Given the description of an element on the screen output the (x, y) to click on. 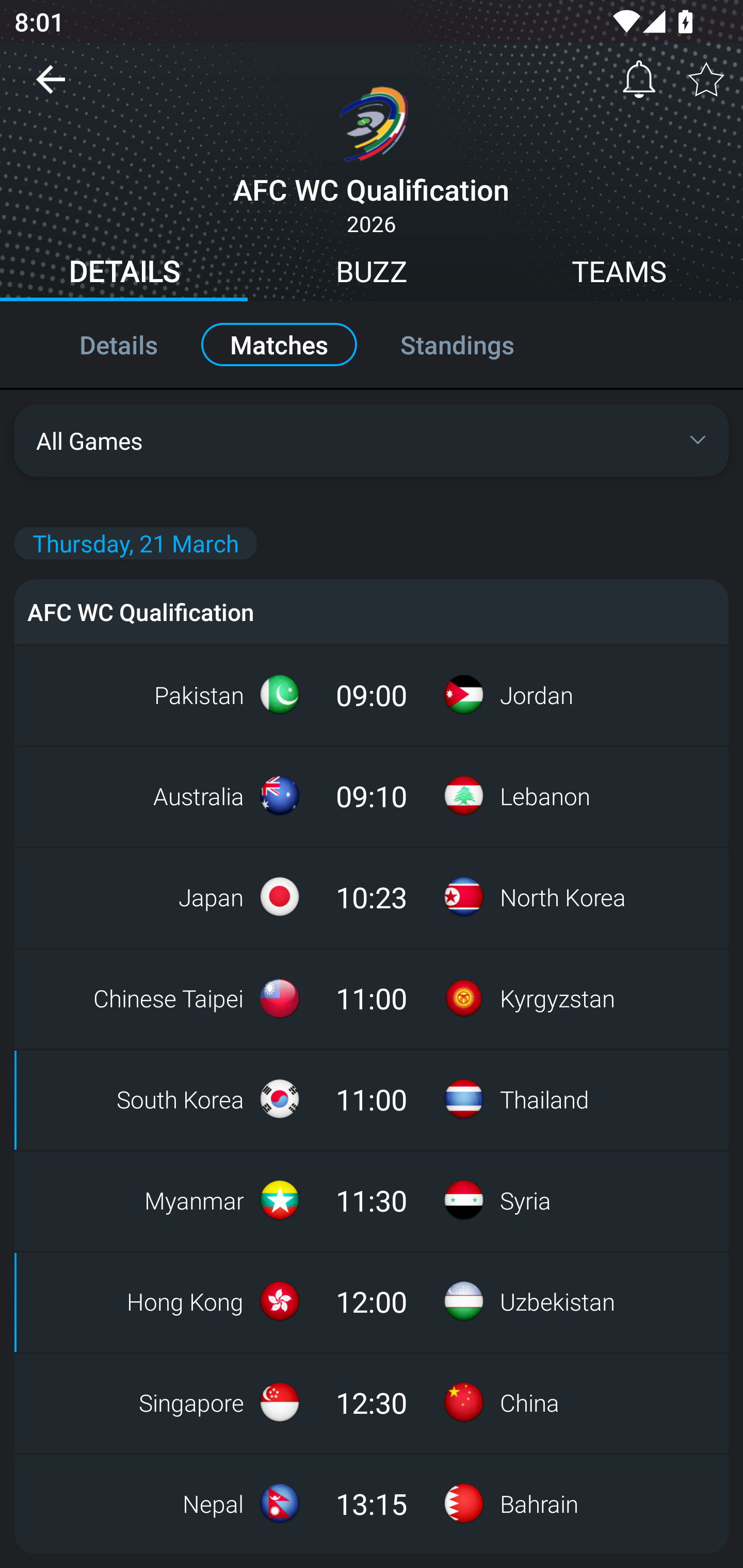
Navigate up (50, 86)
DETAILS (123, 274)
BUZZ (371, 274)
TEAMS (619, 274)
Details (96, 344)
Standings (478, 344)
All Games (371, 440)
AFC WC Qualification (371, 611)
Pakistan 09:00 Jordan (371, 694)
Australia 09:10 Lebanon (371, 795)
Japan 10:23 North Korea (371, 896)
Chinese Taipei 11:00 Kyrgyzstan (371, 997)
South Korea 11:00 Thailand (371, 1098)
Myanmar 11:30 Syria (371, 1200)
Hong Kong 12:00 Uzbekistan (371, 1301)
Singapore 12:30 China (371, 1402)
Nepal 13:15 Bahrain (371, 1503)
